Given the description of an element on the screen output the (x, y) to click on. 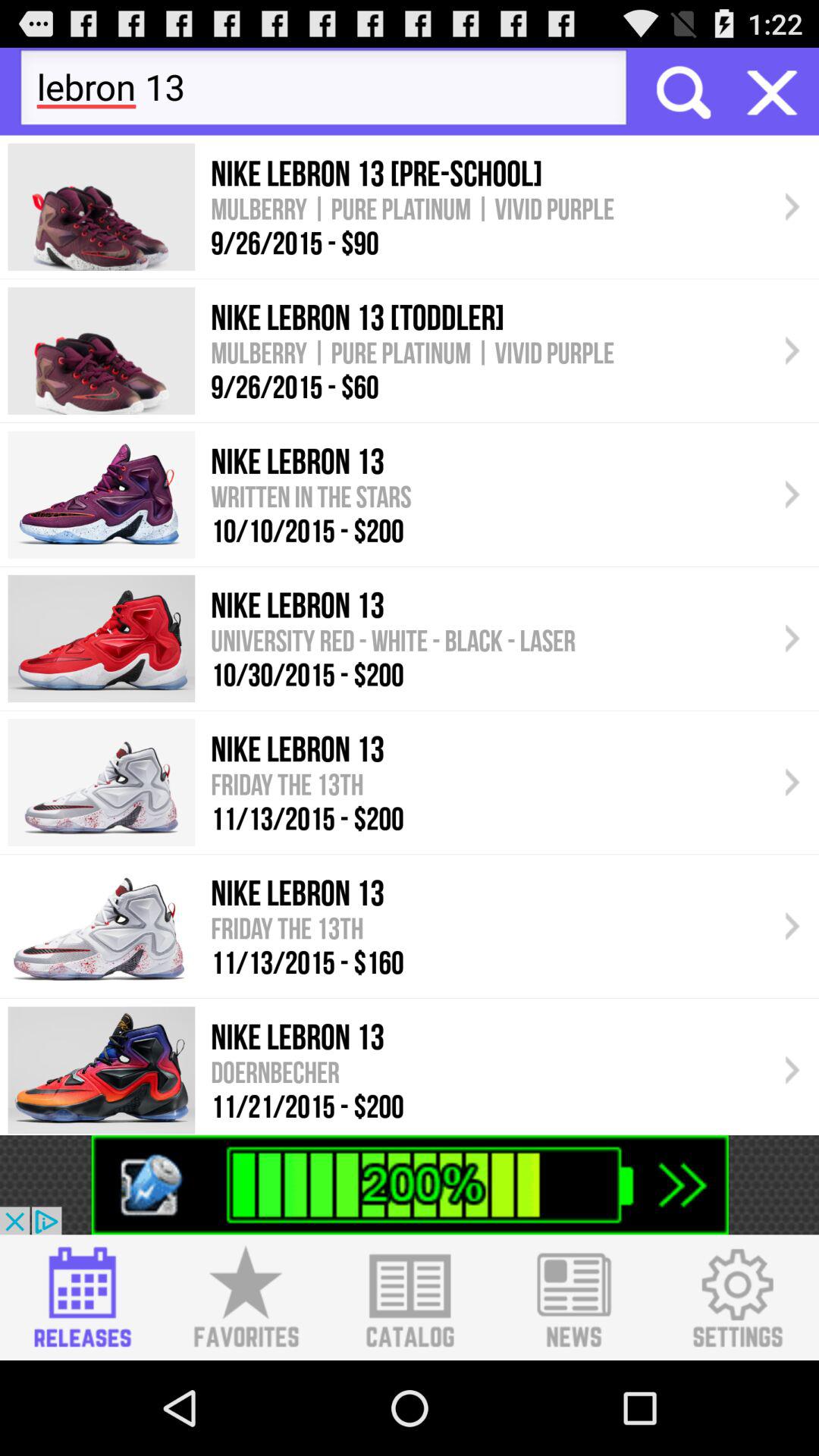
close/ exit (772, 91)
